Given the description of an element on the screen output the (x, y) to click on. 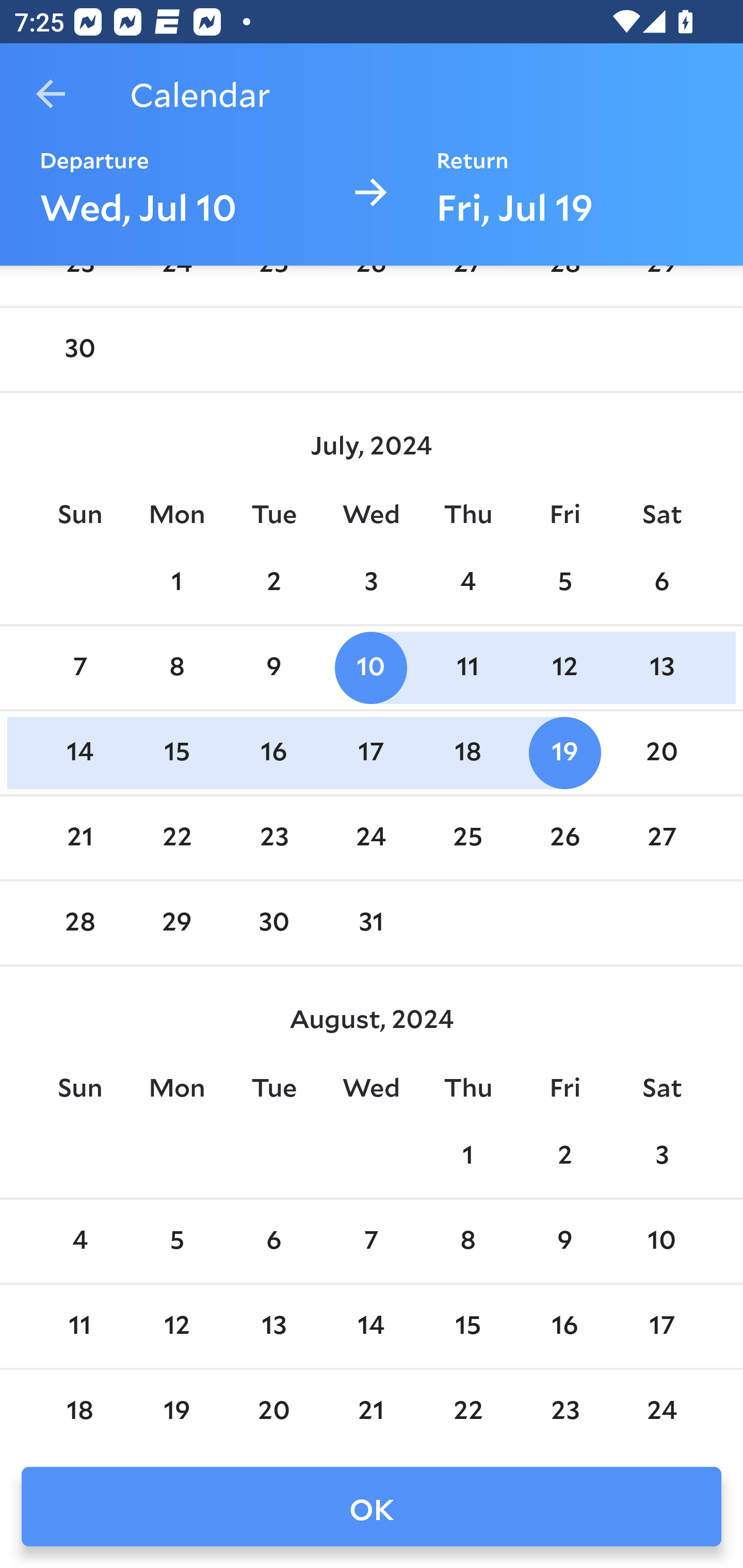
Navigate up (50, 93)
30 (79, 349)
1 (177, 583)
2 (273, 583)
3 (371, 583)
4 (467, 583)
5 (565, 583)
6 (661, 583)
7 (79, 667)
8 (177, 667)
9 (273, 667)
10 (371, 667)
11 (467, 667)
12 (565, 667)
13 (661, 667)
14 (79, 752)
15 (177, 752)
16 (273, 752)
17 (371, 752)
18 (467, 752)
19 (565, 752)
20 (661, 752)
21 (79, 838)
22 (177, 838)
23 (273, 838)
24 (371, 838)
25 (467, 838)
26 (565, 838)
27 (661, 838)
28 (79, 923)
29 (177, 923)
30 (273, 923)
31 (371, 923)
1 (467, 1156)
2 (565, 1156)
3 (661, 1156)
4 (79, 1241)
5 (177, 1241)
6 (273, 1241)
7 (371, 1241)
8 (467, 1241)
9 (565, 1241)
10 (661, 1241)
11 (79, 1326)
12 (177, 1326)
13 (273, 1326)
14 (371, 1326)
15 (467, 1326)
16 (565, 1326)
17 (661, 1326)
